Given the description of an element on the screen output the (x, y) to click on. 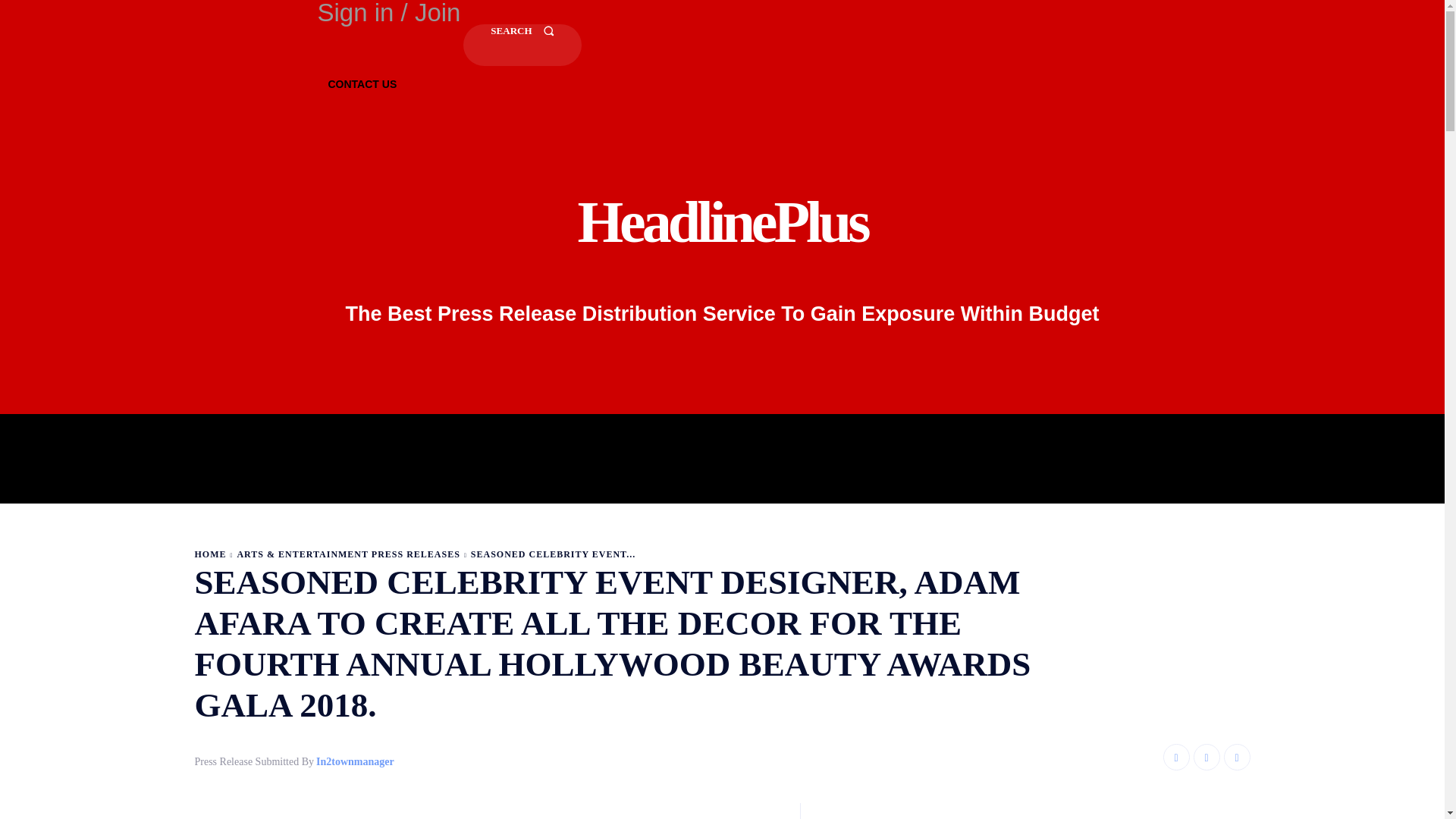
SEARCH (521, 45)
Facebook (1176, 756)
Instagram (1206, 756)
HeadlinePlus (721, 221)
HOME (209, 553)
CONTACT US (362, 84)
Search (521, 45)
Twitter (1237, 756)
In2townmanager (354, 762)
